Given the description of an element on the screen output the (x, y) to click on. 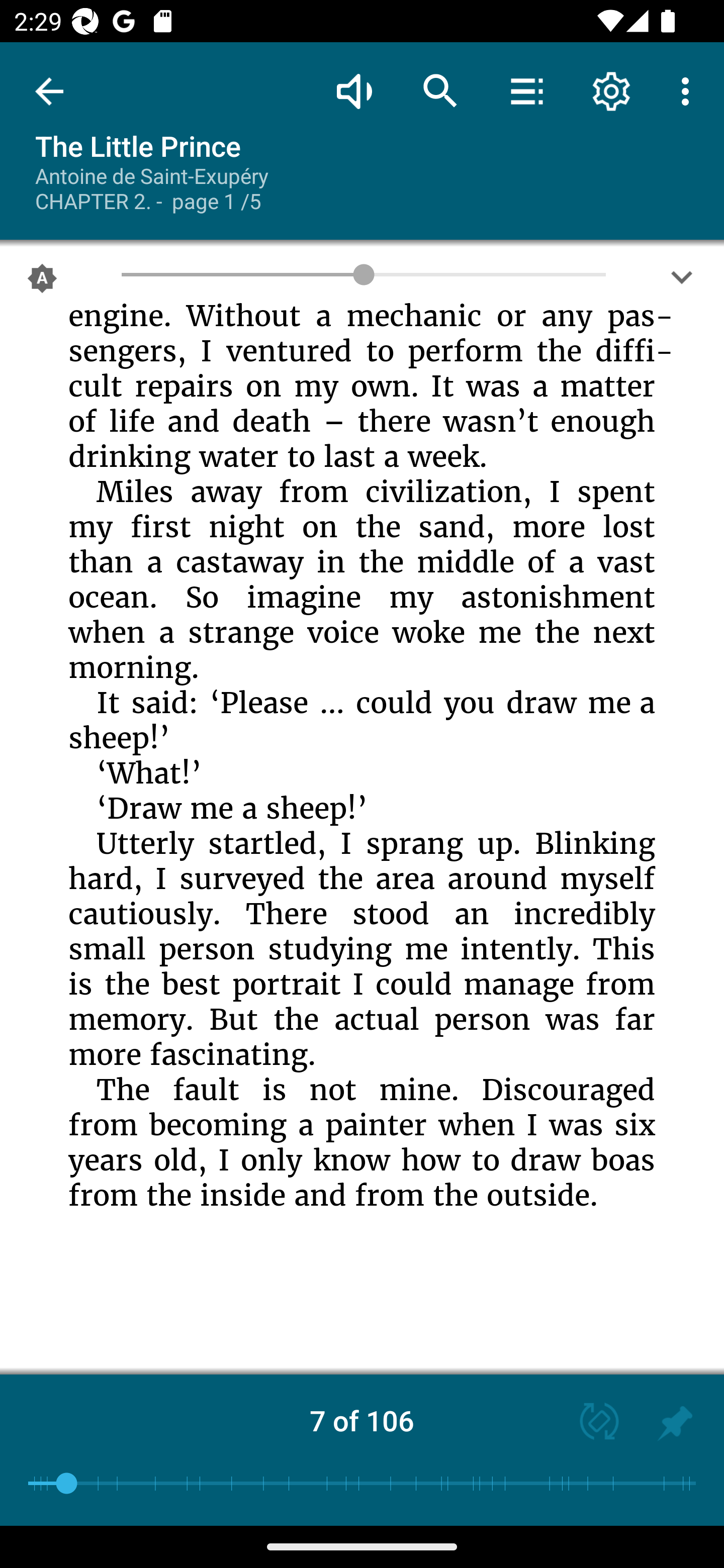
Exit reading (49, 91)
Read aloud (354, 90)
Text search (440, 90)
Contents / Bookmarks / Quotes (526, 90)
Reading settings (611, 90)
More options (688, 90)
Selected screen brightness (42, 281)
Screen brightness settings (681, 281)
7 of 106 (361, 1420)
Screen orientation (590, 1423)
Add to history (674, 1423)
